Given the description of an element on the screen output the (x, y) to click on. 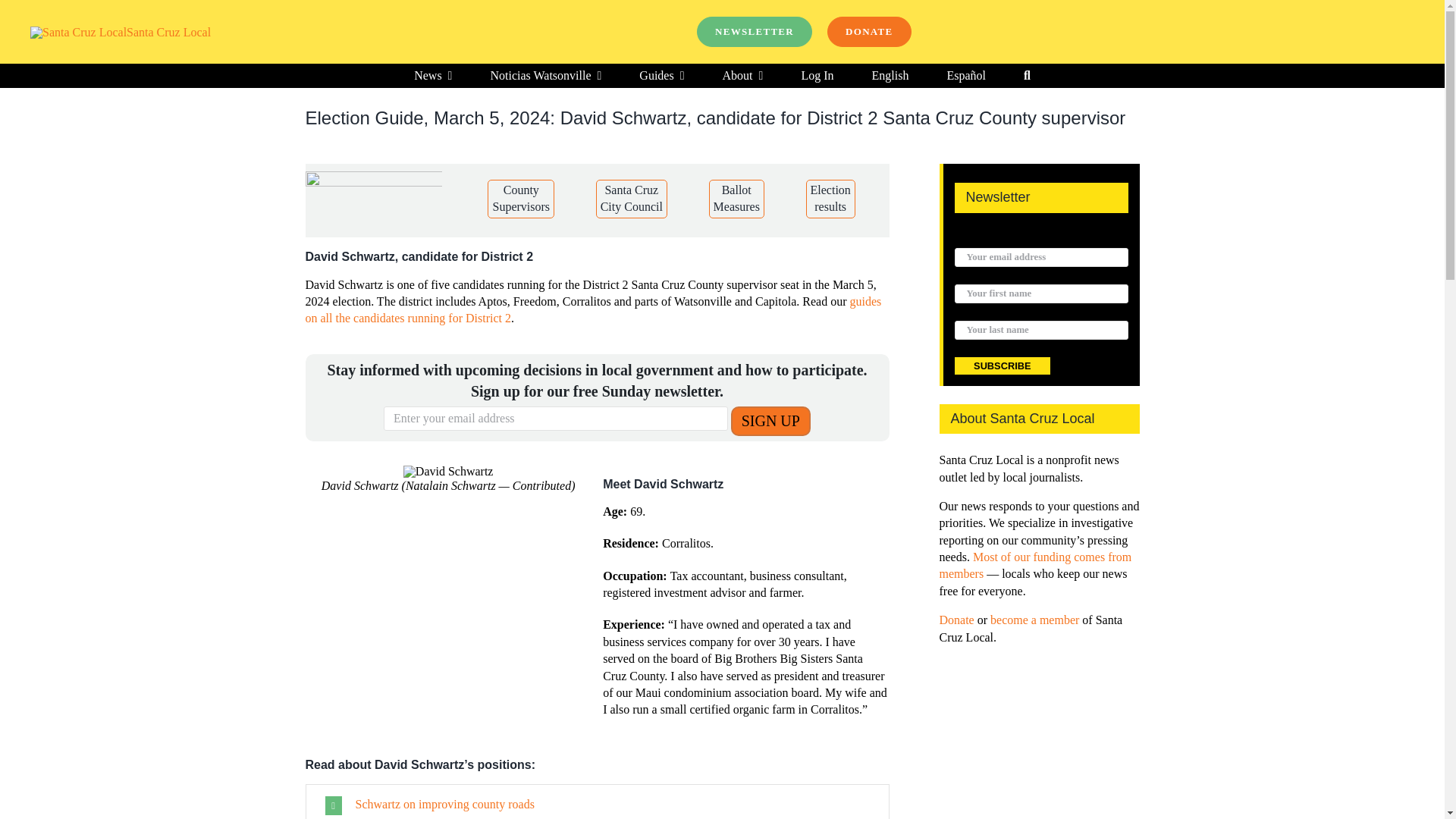
News (432, 75)
English (889, 75)
NEWSLETTER (754, 31)
DONATE (869, 31)
SIGN UP (770, 420)
